Given the description of an element on the screen output the (x, y) to click on. 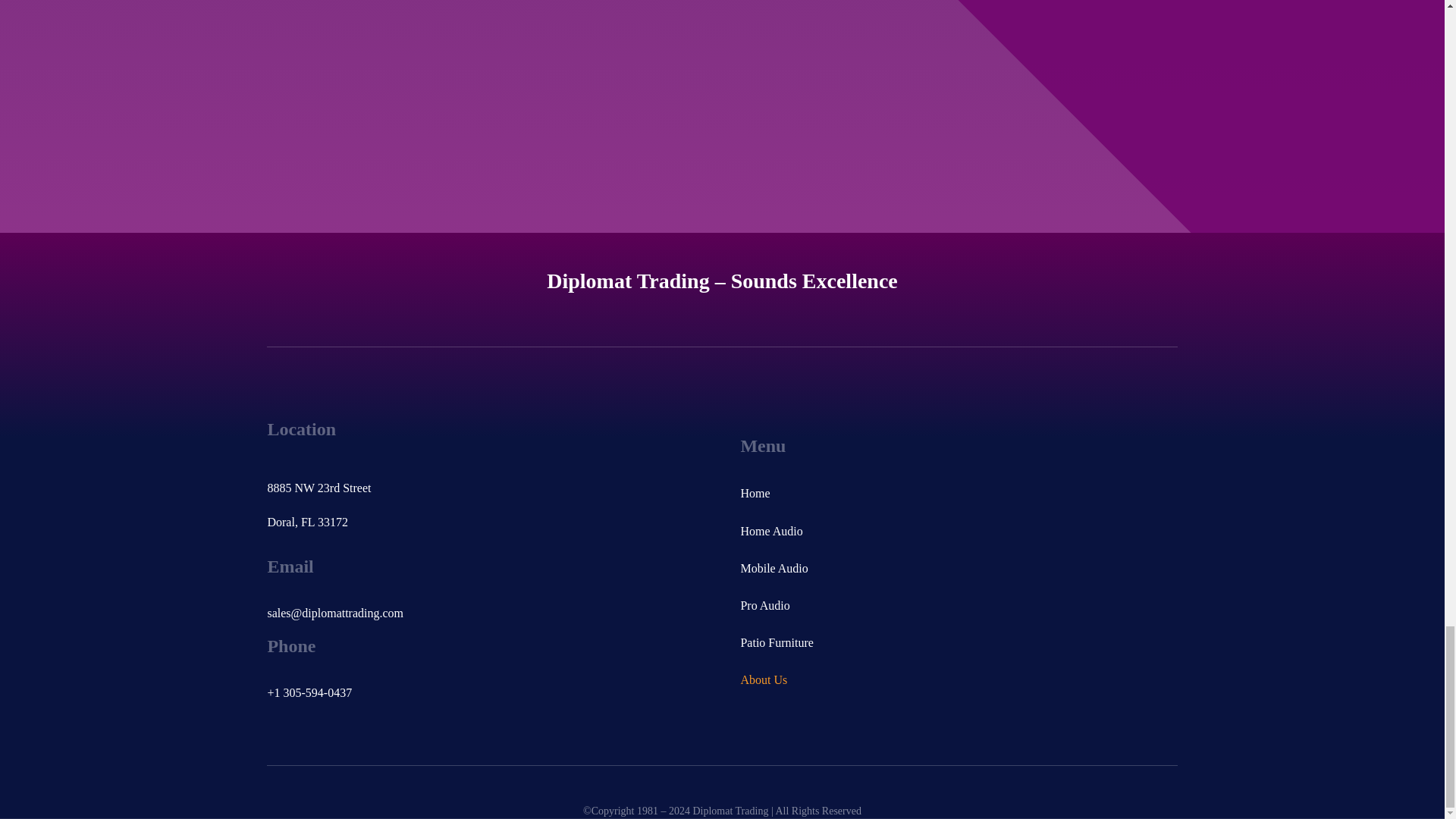
Pro Audio (957, 605)
Home (957, 493)
Home Audio (957, 531)
Patio Furniture (957, 642)
Mobile Audio (957, 568)
About Us (957, 679)
